Given the description of an element on the screen output the (x, y) to click on. 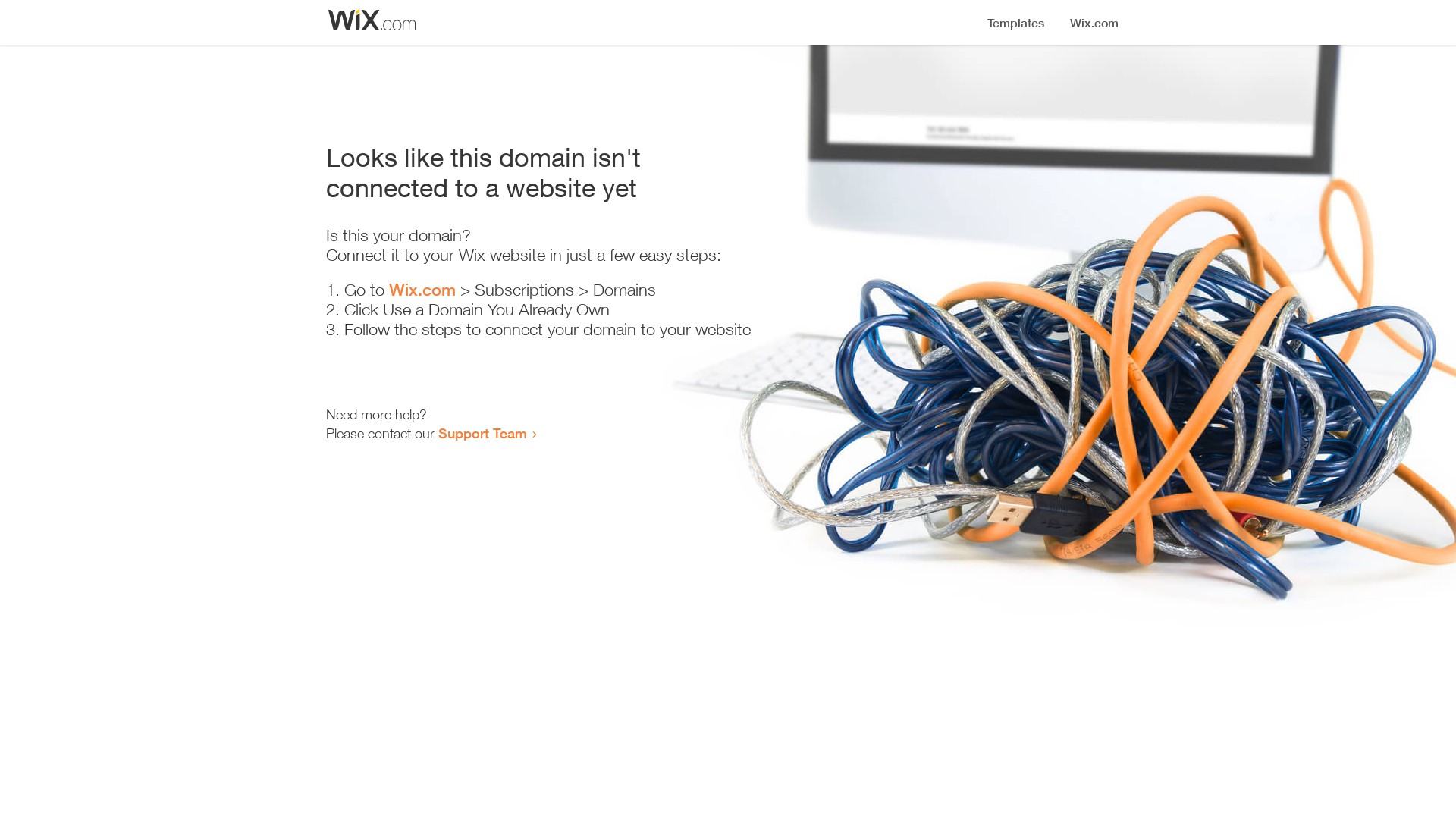
Support Team Element type: text (482, 432)
Wix.com Element type: text (422, 289)
